Given the description of an element on the screen output the (x, y) to click on. 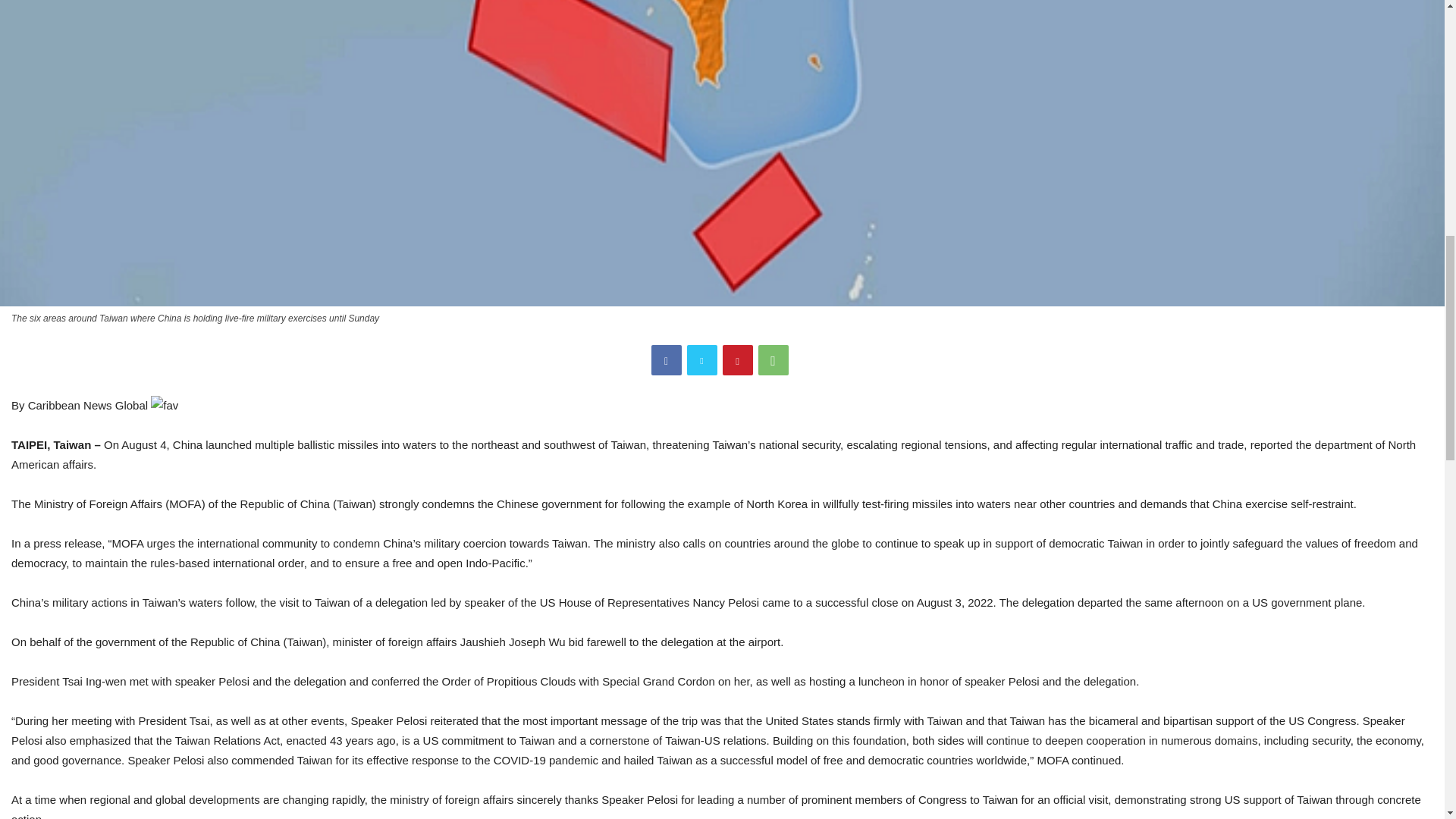
Pinterest (737, 359)
Twitter (702, 359)
Facebook (665, 359)
WhatsApp (773, 359)
